Given the description of an element on the screen output the (x, y) to click on. 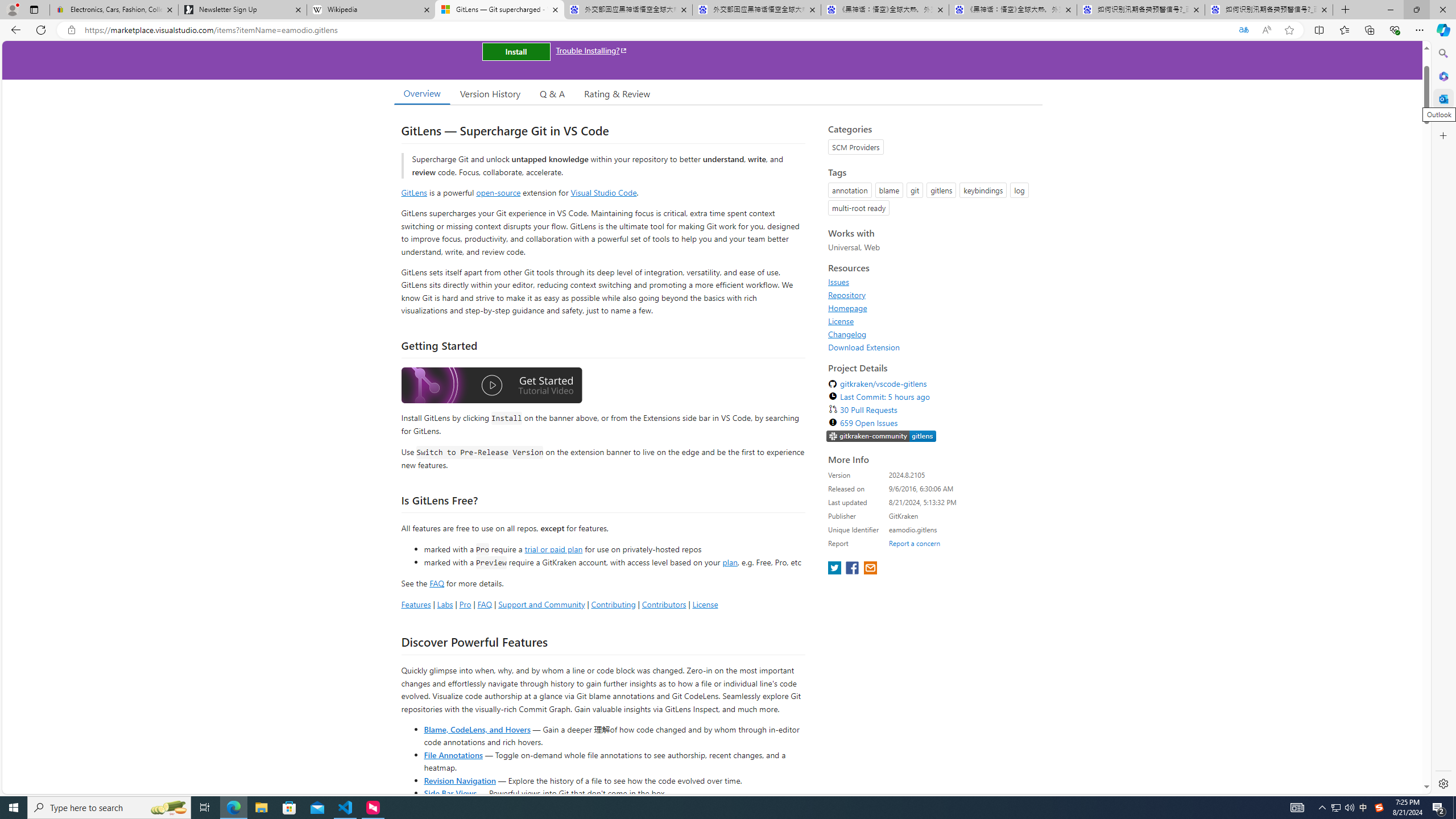
Issues (931, 281)
Report a concern (914, 542)
Repository (847, 294)
Download Extension (931, 346)
share extension on facebook (853, 568)
Download Extension (863, 346)
https://slack.gitkraken.com// (881, 436)
